Given the description of an element on the screen output the (x, y) to click on. 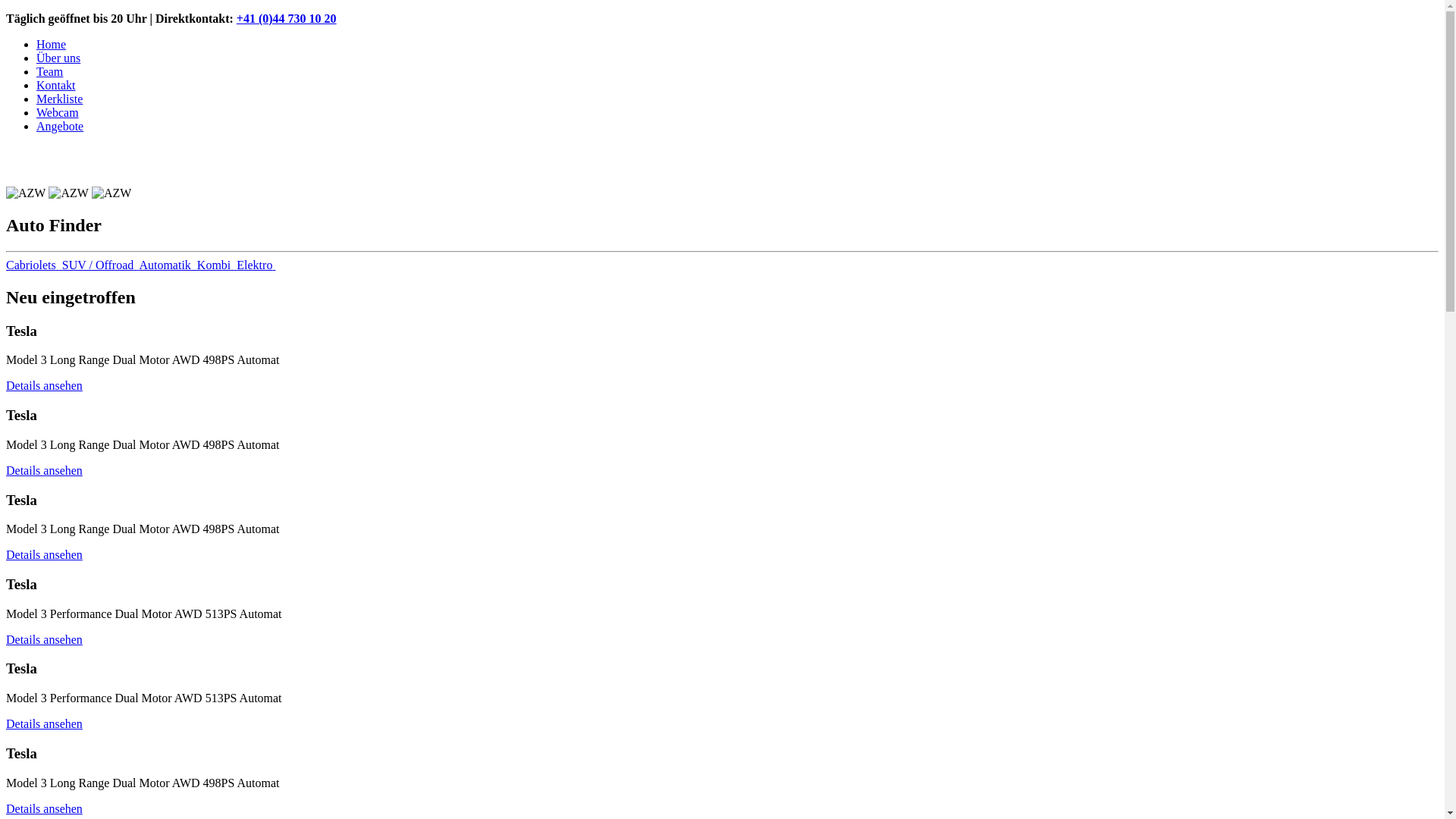
Details ansehen Element type: text (44, 808)
SUV / Offroad Element type: text (100, 264)
+41 (0)44 730 10 20 Element type: text (286, 18)
Kontakt Element type: text (55, 84)
Automatik Element type: text (167, 264)
Elektro Element type: text (255, 264)
Details ansehen Element type: text (44, 470)
Team Element type: text (49, 71)
Details ansehen Element type: text (44, 639)
Home Element type: text (50, 43)
Merkliste Element type: text (59, 98)
Cabriolets Element type: text (34, 264)
Details ansehen Element type: text (44, 554)
Details ansehen Element type: text (44, 723)
Details ansehen Element type: text (44, 385)
Kombi Element type: text (216, 264)
Angebote Element type: text (59, 125)
Webcam Element type: text (57, 112)
